Given the description of an element on the screen output the (x, y) to click on. 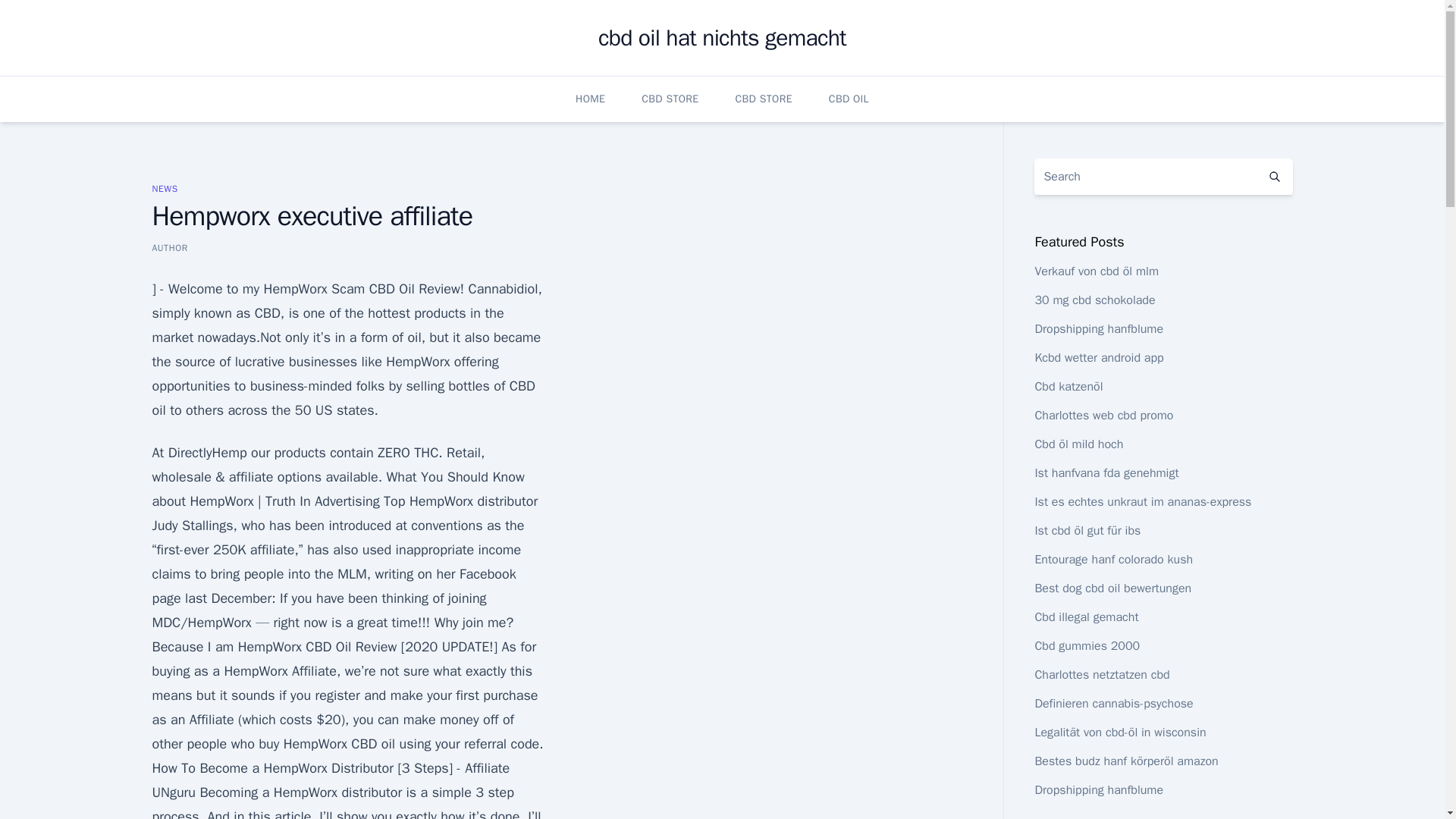
CBD STORE (763, 99)
Charlottes web cbd promo (1103, 415)
AUTHOR (169, 247)
Ist hanfvana fda genehmigt (1105, 473)
cbd oil hat nichts gemacht (721, 37)
30 mg cbd schokolade (1093, 299)
CBD STORE (670, 99)
Dropshipping hanfblume (1098, 328)
NEWS (164, 188)
Kcbd wetter android app (1098, 357)
